Given the description of an element on the screen output the (x, y) to click on. 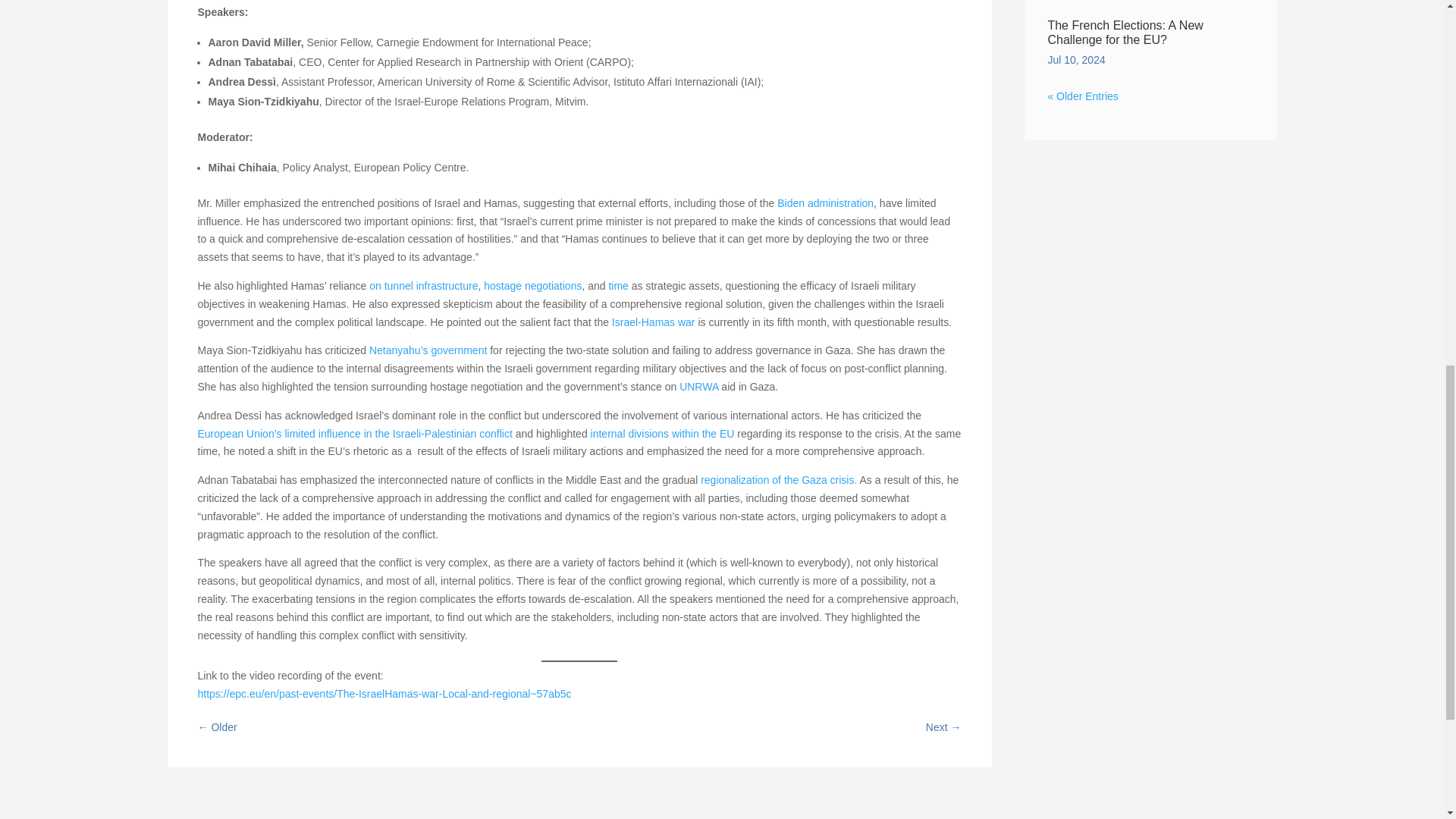
internal divisions within the EU (663, 433)
time (617, 285)
regionalization of the Gaza crisis. (778, 480)
Biden administration (825, 203)
on tunnel infrastructure (423, 285)
UNRWA (698, 386)
The French Elections: A New Challenge for the EU? (1124, 31)
hostage negotiations (531, 285)
Israel-Hamas war (653, 322)
